Given the description of an element on the screen output the (x, y) to click on. 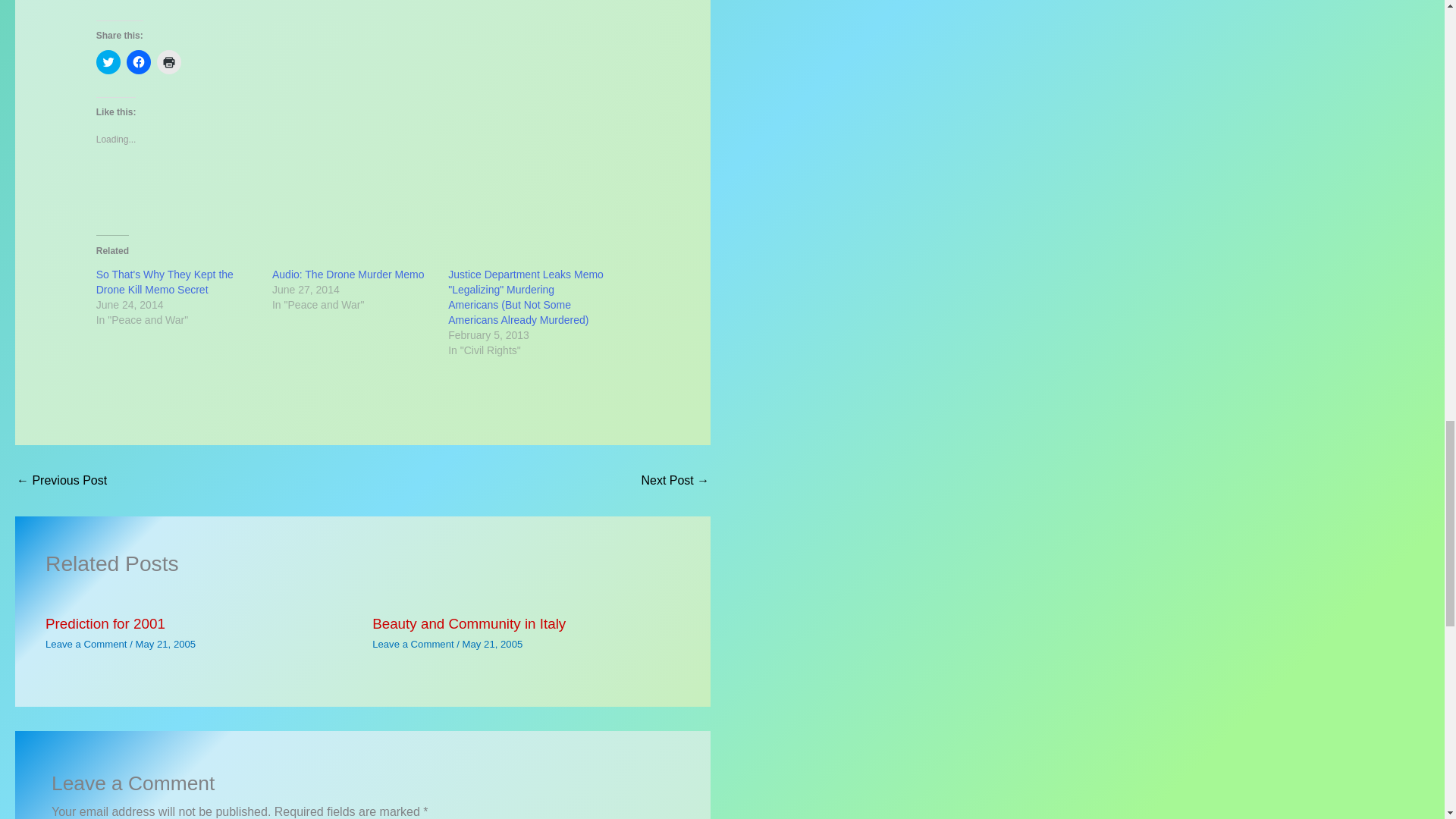
Audio: The Drone Murder Memo (348, 274)
Audio: The Drone Murder Memo (348, 274)
Click to print (168, 61)
Click to share on Twitter (108, 61)
Click to share on Facebook (138, 61)
Like or Reblog (363, 189)
So That's Why They Kept the Drone Kill Memo Secret (164, 281)
Audio: David Swanson with Dan Yaseen on KFCF Fresno (674, 480)
